Given the description of an element on the screen output the (x, y) to click on. 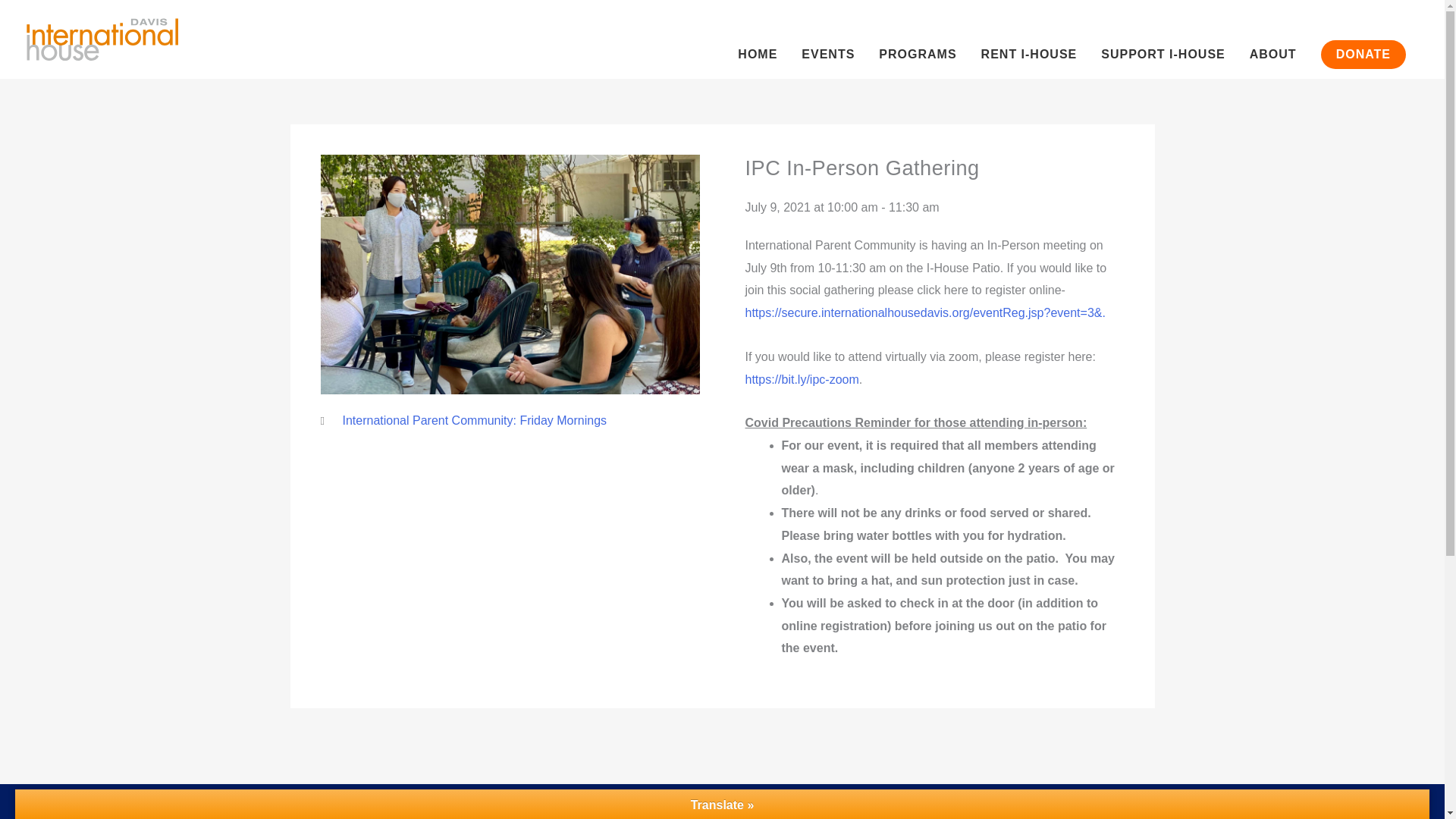
SUPPORT I-HOUSE (1162, 39)
PROGRAMS (917, 39)
EVENTS (827, 39)
ABOUT (1272, 39)
DONATE (1363, 39)
RENT I-HOUSE (1029, 39)
International Parent Community: Friday Mornings (474, 420)
